Given the description of an element on the screen output the (x, y) to click on. 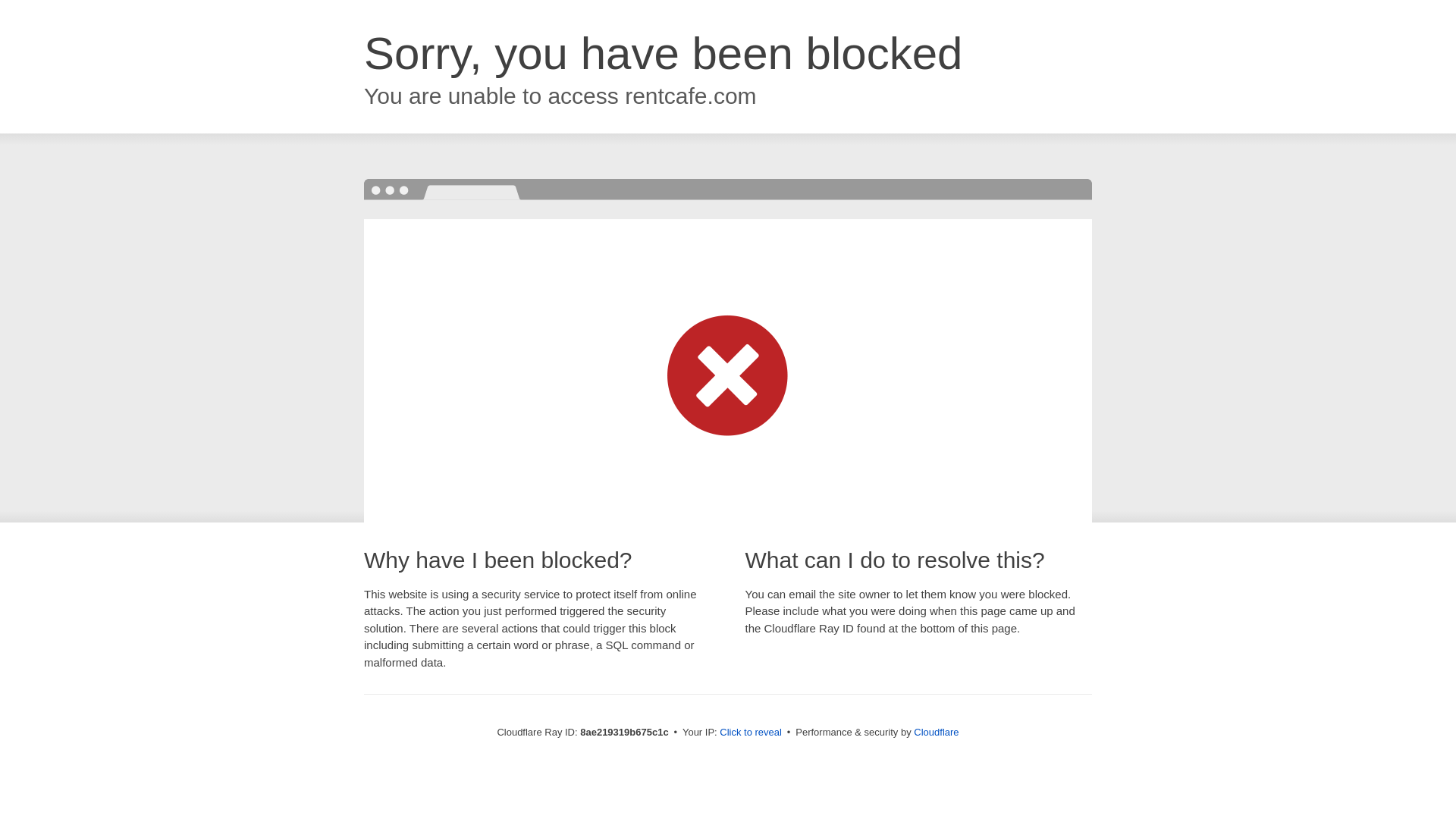
Click to reveal (750, 732)
Cloudflare (936, 731)
